Given the description of an element on the screen output the (x, y) to click on. 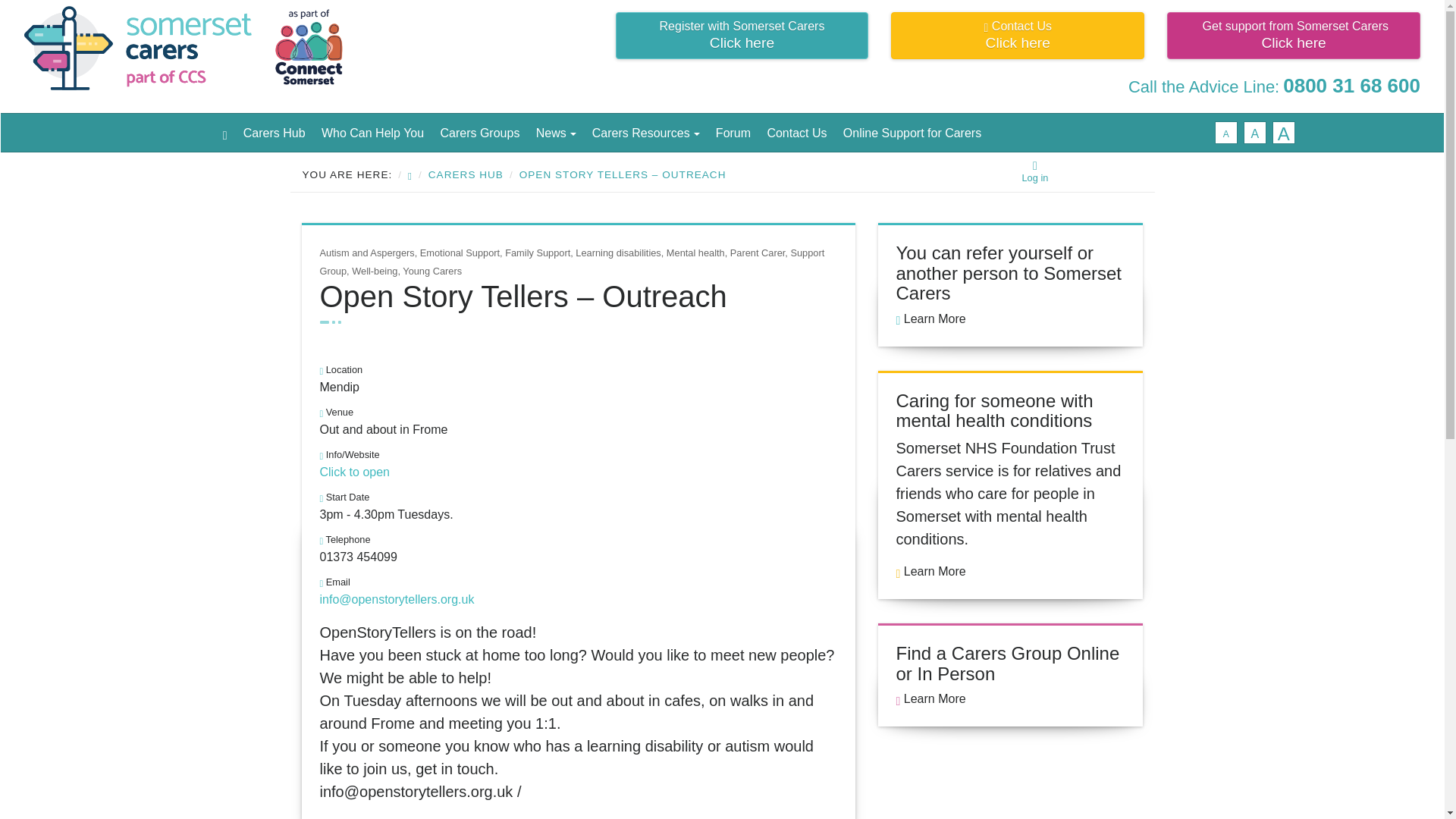
A (1225, 132)
Carers Resources (645, 132)
CARERS HUB (465, 174)
Online Support for Carers (912, 132)
Log in (1035, 171)
Who Can Help You (372, 132)
News (555, 132)
Click to open (1009, 674)
A (355, 472)
A (1017, 35)
Carers Groups (1254, 132)
Contact Us (1283, 132)
